Given the description of an element on the screen output the (x, y) to click on. 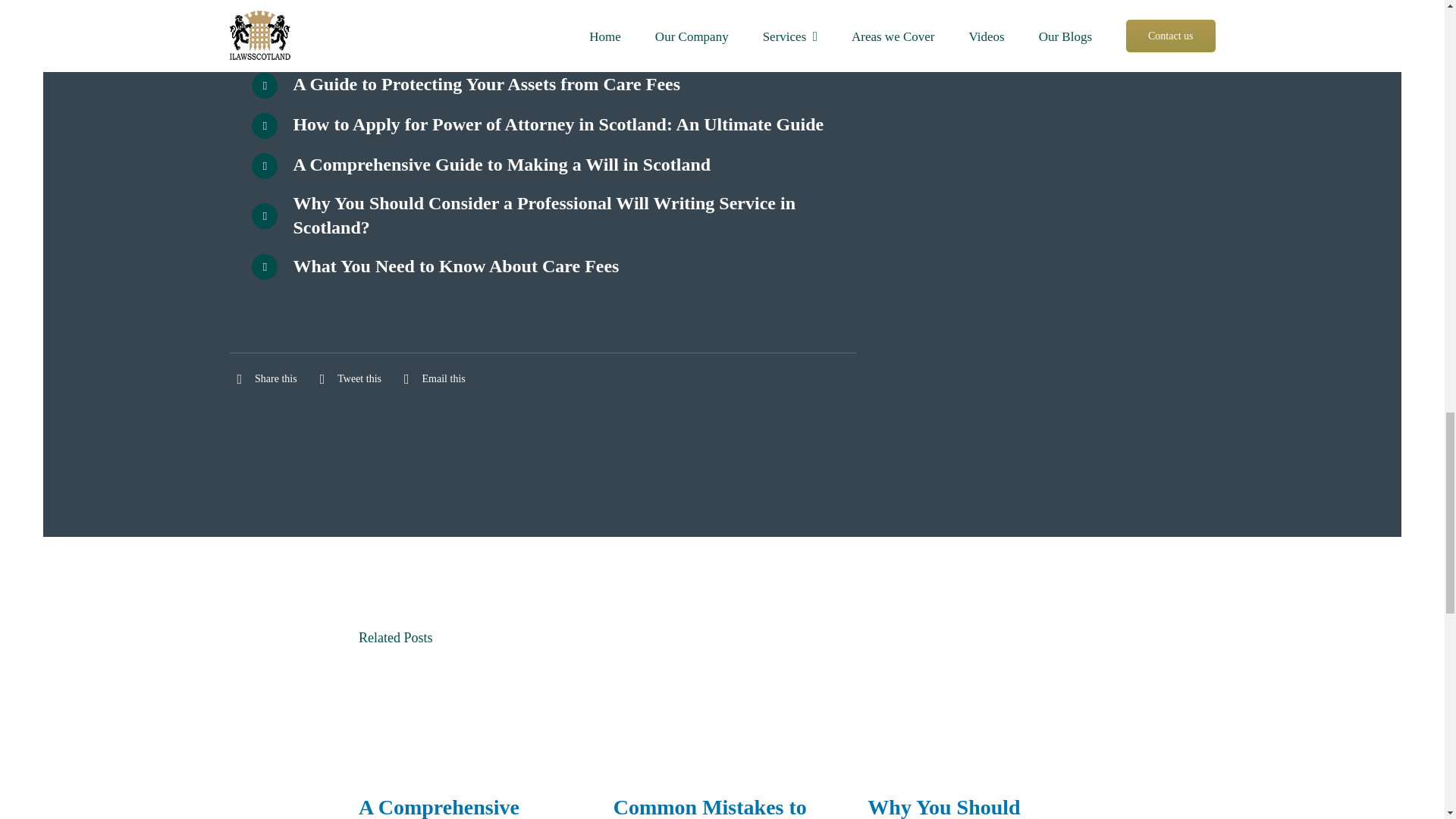
Common Mistakes to Avoid When Making Your Will in Scotland (710, 807)
Email this (430, 378)
Tweet this (347, 378)
What is the Importance of Making a Power of Attorney? (491, 44)
Share this (262, 378)
A Comprehensive Guide to Making a Will in Scotland (480, 164)
A Guide to Protecting Your Assets from Care Fees (465, 84)
What You Need to Know About Care Fees (434, 265)
A Comprehensive Guide to Making a Will in Scotland (465, 807)
